Given the description of an element on the screen output the (x, y) to click on. 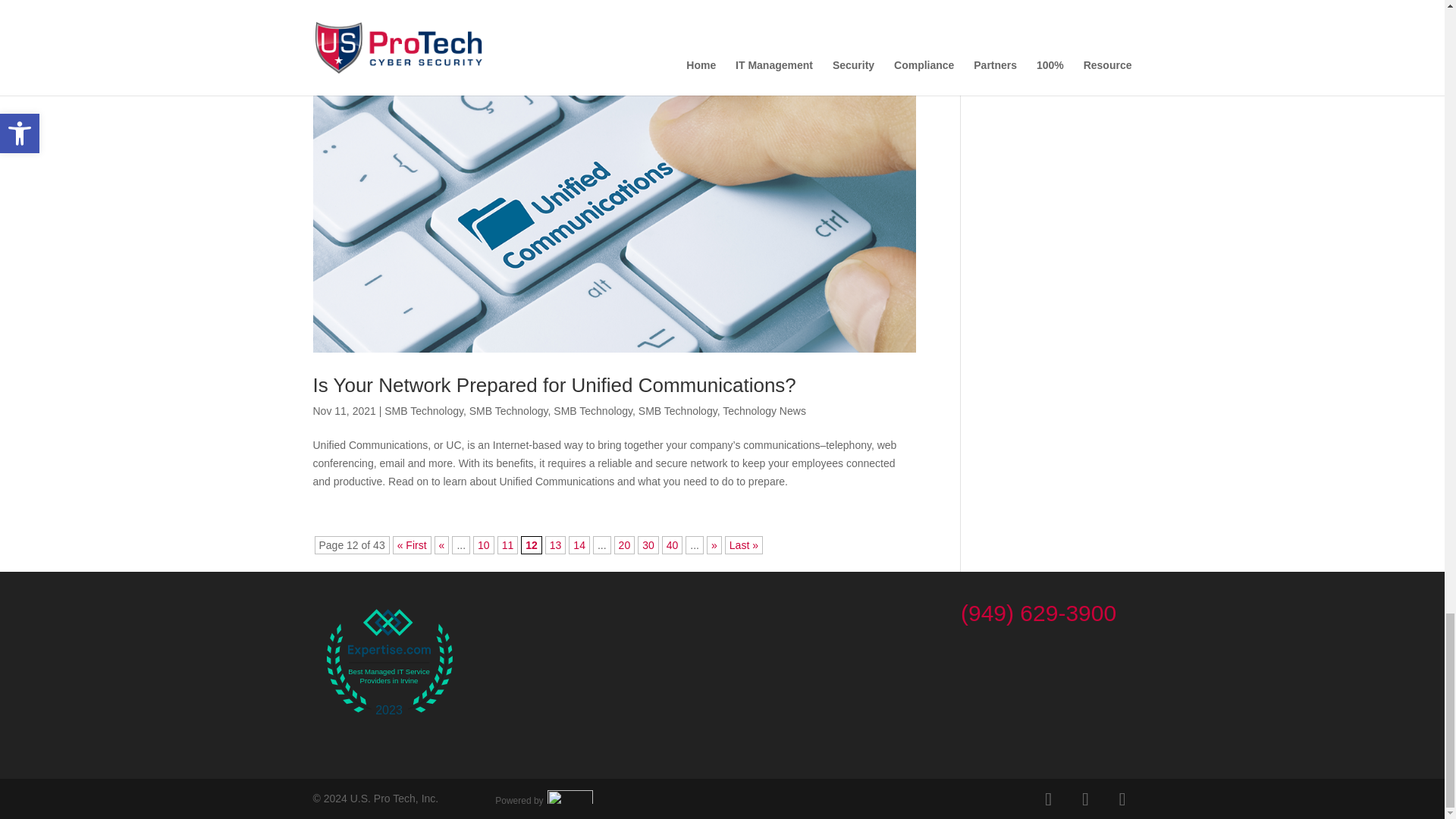
Page 20 (624, 545)
Page 11 (507, 545)
Page 13 (555, 545)
Page 30 (648, 545)
Page 10 (484, 545)
Page 14 (579, 545)
Page 40 (672, 545)
